Given the description of an element on the screen output the (x, y) to click on. 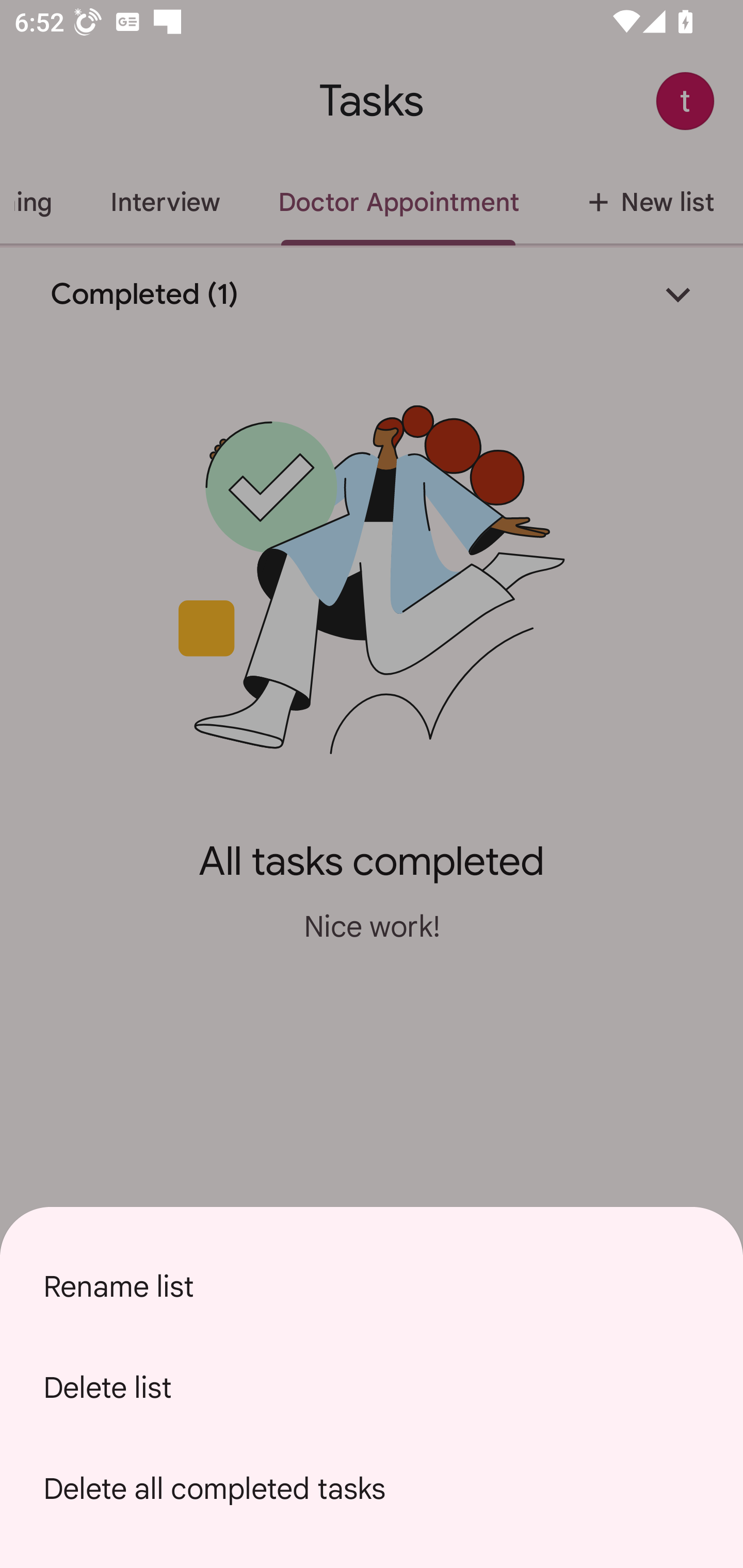
Rename list (371, 1286)
Delete list (371, 1387)
Delete all completed tasks (371, 1488)
